Given the description of an element on the screen output the (x, y) to click on. 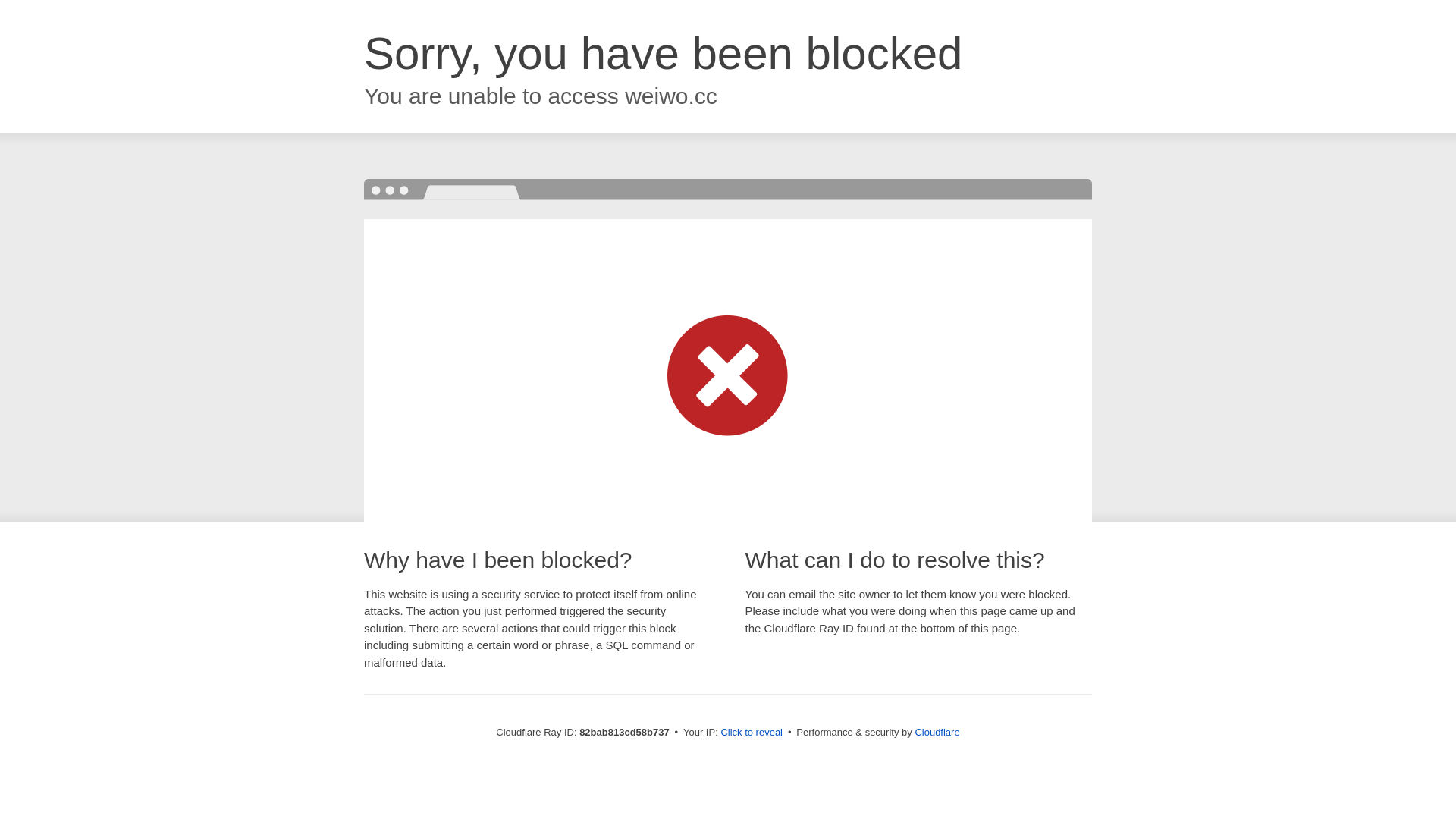
Click to reveal Element type: text (751, 732)
Cloudflare Element type: text (936, 731)
